Given the description of an element on the screen output the (x, y) to click on. 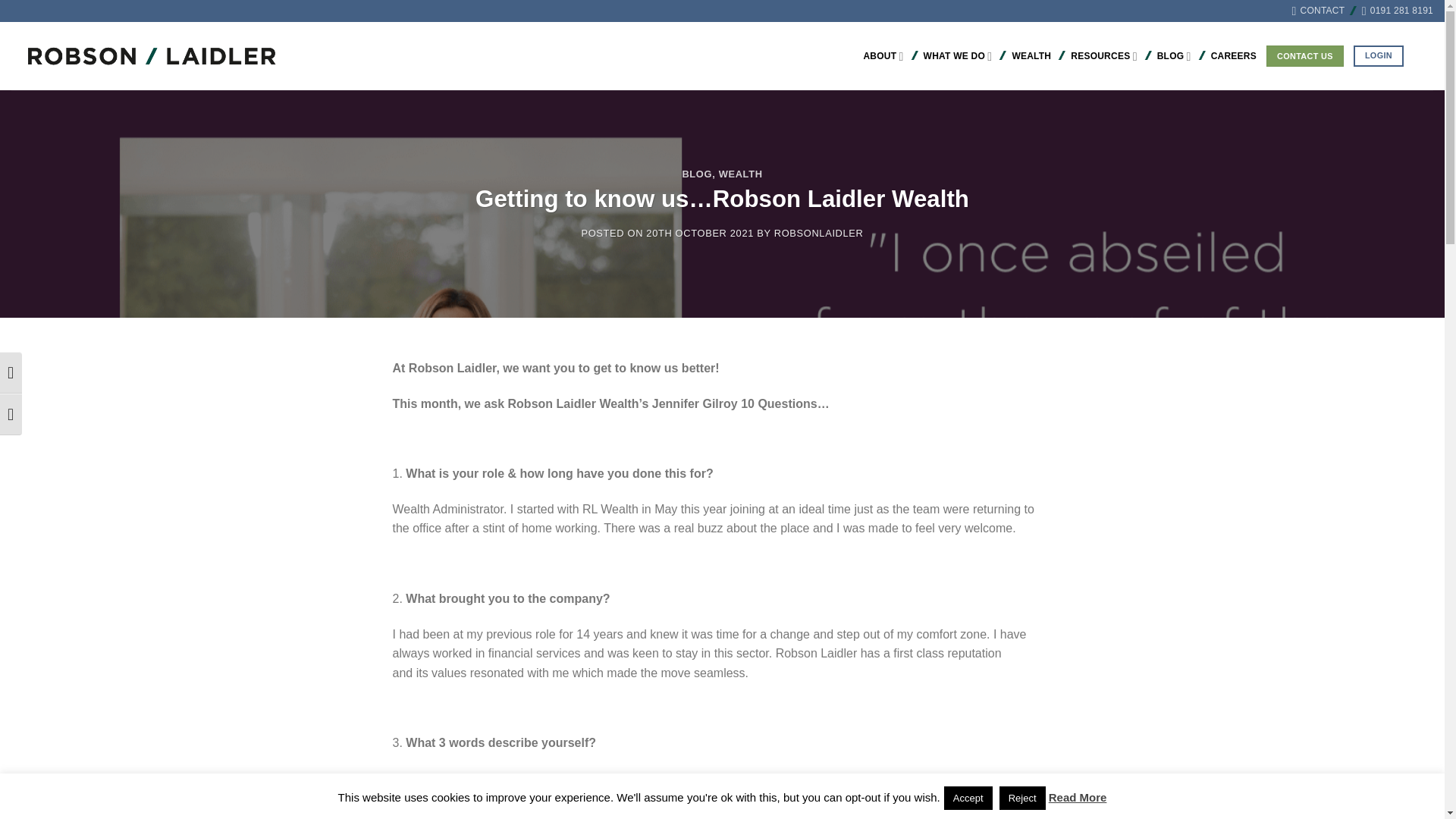
Robson Laidler - Robson Laidler (137, 55)
BLOG (1174, 56)
LOGIN (1378, 55)
ABOUT (882, 56)
CONTACT (1317, 11)
WEALTH (1031, 55)
RESOURCES (1103, 56)
CAREERS (1233, 55)
CONTACT US (1304, 55)
WHAT WE DO (957, 56)
0191 281 8191 (1396, 11)
